Given the description of an element on the screen output the (x, y) to click on. 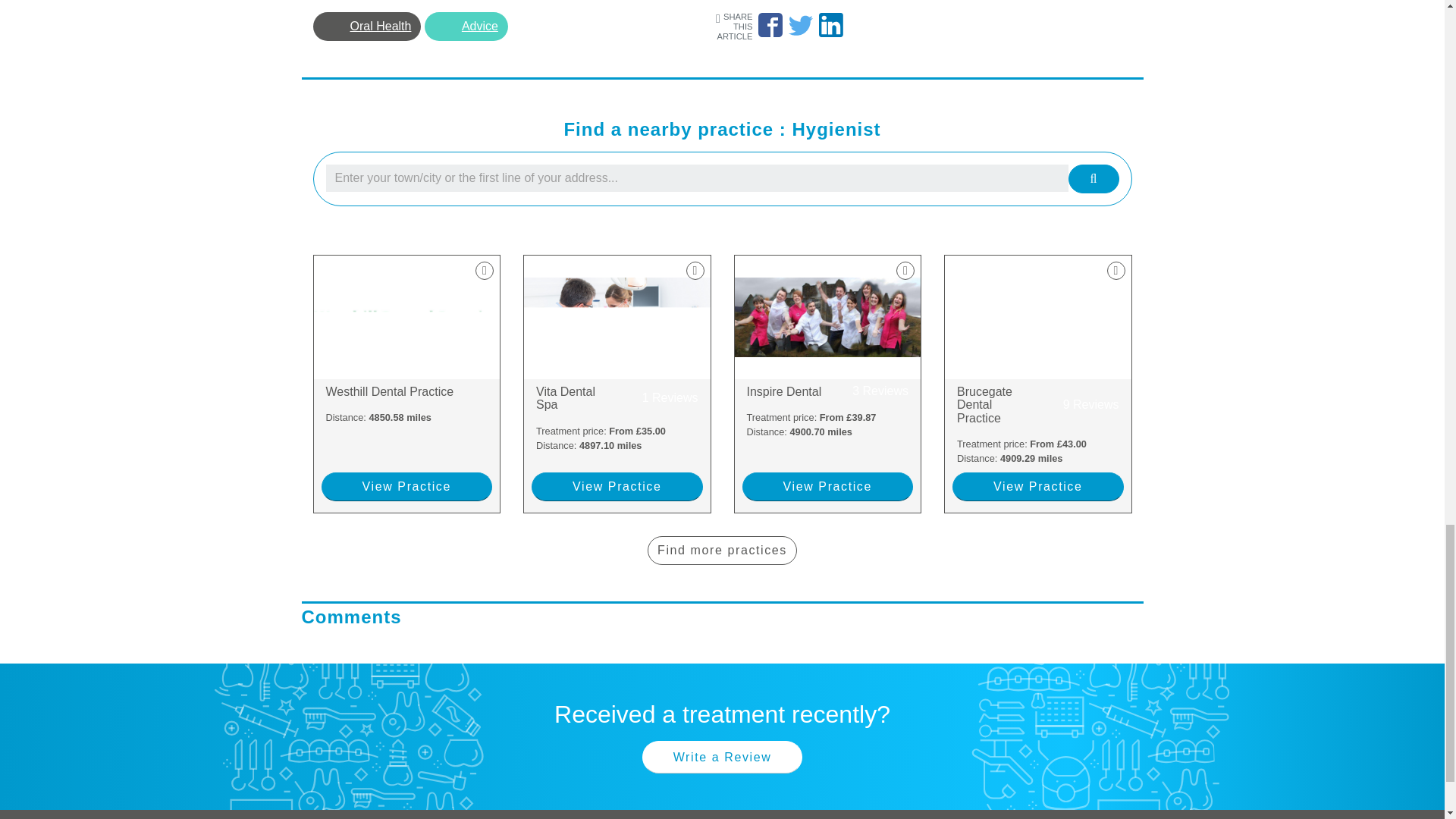
Oral Health (617, 398)
Advice (366, 26)
Westhill Dental Practice (466, 26)
View Practice (826, 391)
View Practice (407, 391)
Share article on Facebook (407, 486)
Share article on Twitter (617, 486)
Share article on LinkedIn (770, 24)
